Given the description of an element on the screen output the (x, y) to click on. 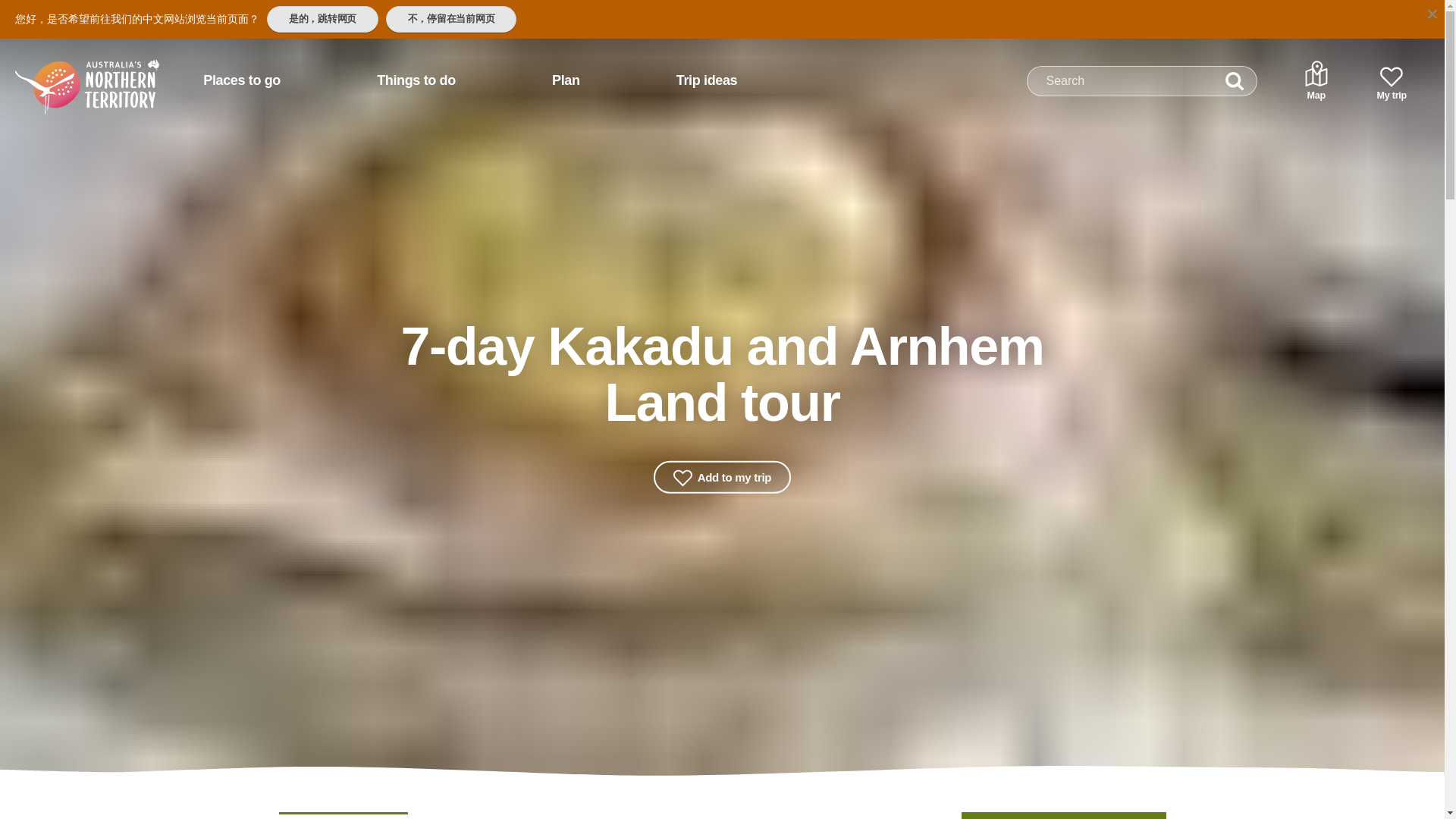
Things to do (416, 80)
Home (67, 73)
Search (1234, 81)
Places to go (241, 80)
